Given the description of an element on the screen output the (x, y) to click on. 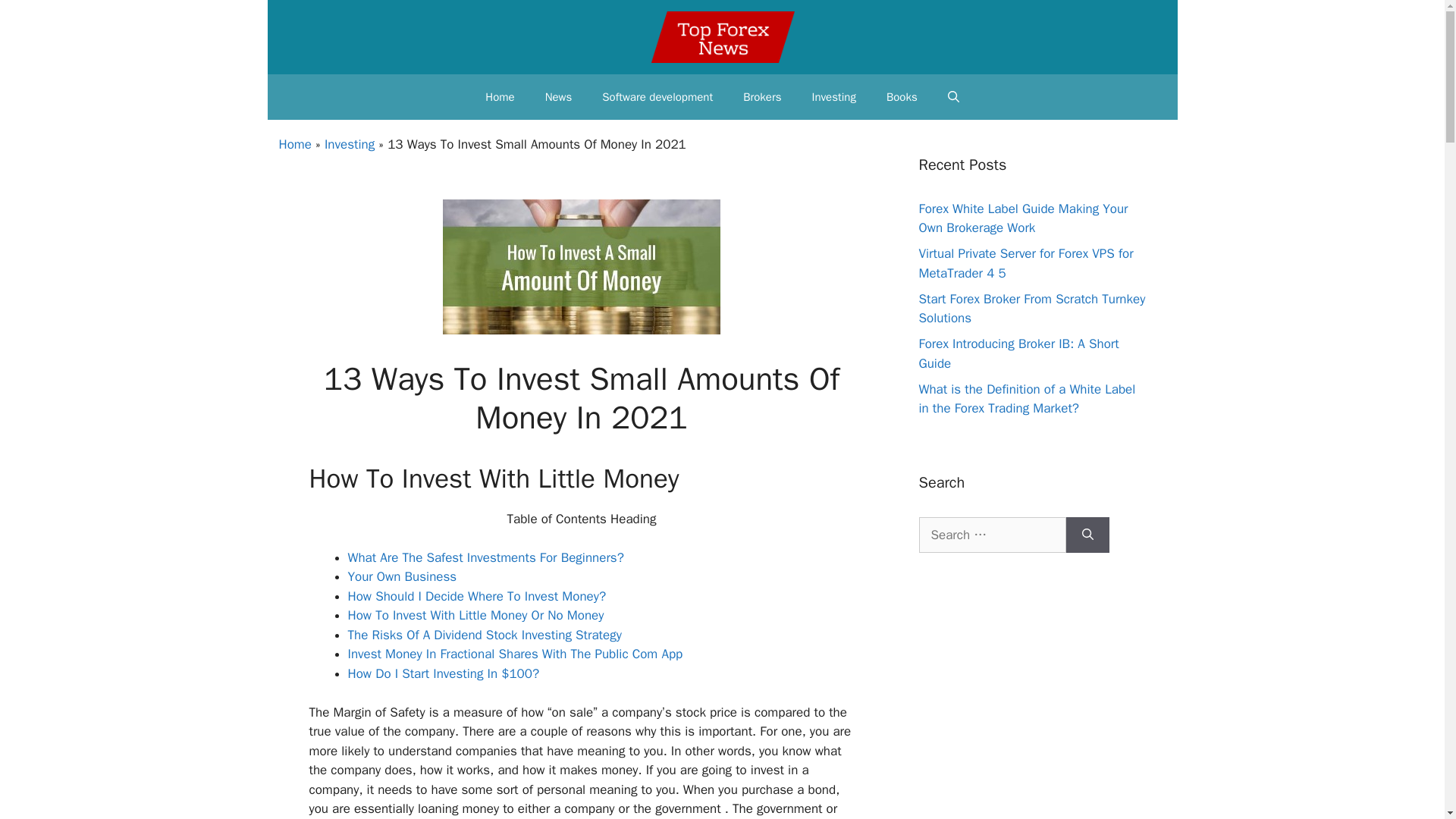
Start Forex Broker From Scratch Turnkey Solutions (1031, 308)
News (558, 96)
How To Invest With Little Money Or No Money (475, 615)
Home (499, 96)
Investing (833, 96)
Home (295, 144)
Brokers (762, 96)
Books (901, 96)
Search for: (991, 534)
Your Own Business (402, 576)
Software development (657, 96)
What Are The Safest Investments For Beginners? (485, 557)
Forex White Label Guide Making Your Own Brokerage Work (1023, 218)
The Risks Of A Dividend Stock Investing Strategy (484, 634)
